Given the description of an element on the screen output the (x, y) to click on. 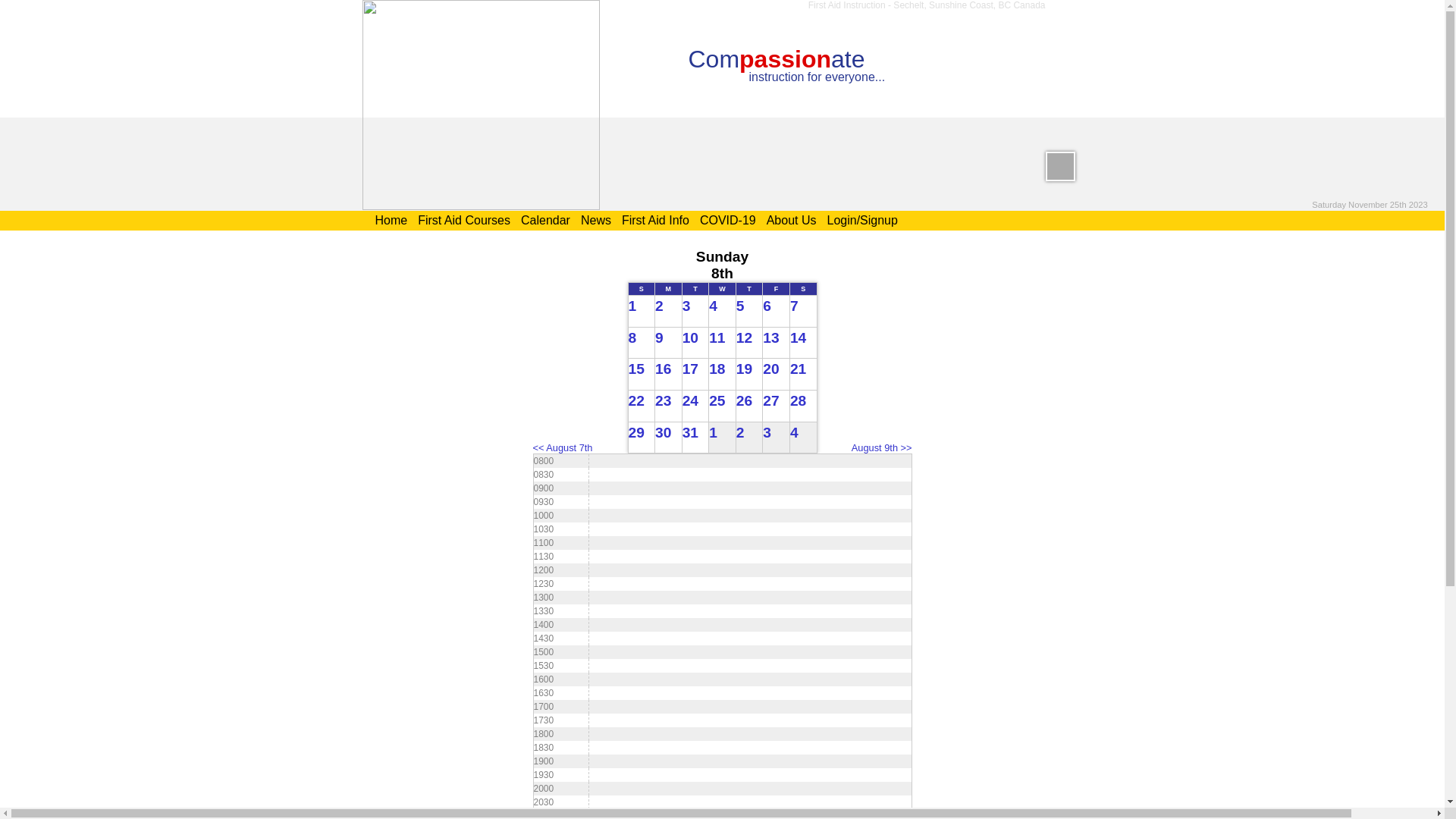
27 Element type: text (776, 405)
15 Element type: text (635, 368)
<< August 7th Element type: text (562, 447)
23 Element type: text (663, 400)
2 Element type: text (668, 311)
23 Element type: text (668, 405)
10 Element type: text (695, 342)
29 Element type: text (635, 432)
3 Element type: text (695, 311)
26 Element type: text (748, 405)
1 Element type: text (722, 437)
Login/Signup Element type: text (861, 219)
1 Element type: text (631, 305)
Calendar Element type: text (545, 219)
2 Element type: text (659, 305)
Home Element type: text (391, 219)
8 Element type: text (631, 337)
News Element type: text (595, 219)
3 Element type: text (686, 305)
18 Element type: text (722, 374)
1 Element type: text (641, 311)
13 Element type: text (776, 342)
4 Element type: text (722, 311)
26 Element type: text (744, 400)
7 Element type: text (794, 305)
29 Element type: text (641, 437)
21 Element type: text (802, 374)
10 Element type: text (690, 337)
5 Element type: text (748, 311)
20 Element type: text (770, 368)
28 Element type: text (798, 400)
2 Element type: text (748, 437)
9 Element type: text (668, 342)
14 Element type: text (802, 342)
8 Element type: text (641, 342)
First Aid Courses Element type: text (463, 219)
21 Element type: text (798, 368)
4 Element type: text (802, 437)
11 Element type: text (716, 337)
19 Element type: text (748, 374)
5 Element type: text (740, 305)
About Us Element type: text (791, 219)
31 Element type: text (695, 437)
12 Element type: text (744, 337)
7 Element type: text (802, 311)
31 Element type: text (690, 432)
August 9th >> Element type: text (881, 447)
6 Element type: text (766, 305)
17 Element type: text (695, 374)
25 Element type: text (722, 405)
4 Element type: text (713, 305)
16 Element type: text (663, 368)
20 Element type: text (776, 374)
13 Element type: text (770, 337)
search Element type: text (1060, 165)
22 Element type: text (641, 405)
24 Element type: text (690, 400)
25 Element type: text (716, 400)
16 Element type: text (668, 374)
12 Element type: text (748, 342)
2 Element type: text (740, 432)
19 Element type: text (744, 368)
3 Element type: text (766, 432)
30 Element type: text (668, 437)
30 Element type: text (663, 432)
22 Element type: text (635, 400)
24 Element type: text (695, 405)
14 Element type: text (798, 337)
First Aid Info Element type: text (655, 219)
6 Element type: text (776, 311)
4 Element type: text (794, 432)
1 Element type: text (713, 432)
17 Element type: text (690, 368)
9 Element type: text (659, 337)
28 Element type: text (802, 405)
11 Element type: text (722, 342)
15 Element type: text (641, 374)
COVID-19 Element type: text (727, 219)
3 Element type: text (776, 437)
27 Element type: text (770, 400)
18 Element type: text (716, 368)
